Given the description of an element on the screen output the (x, y) to click on. 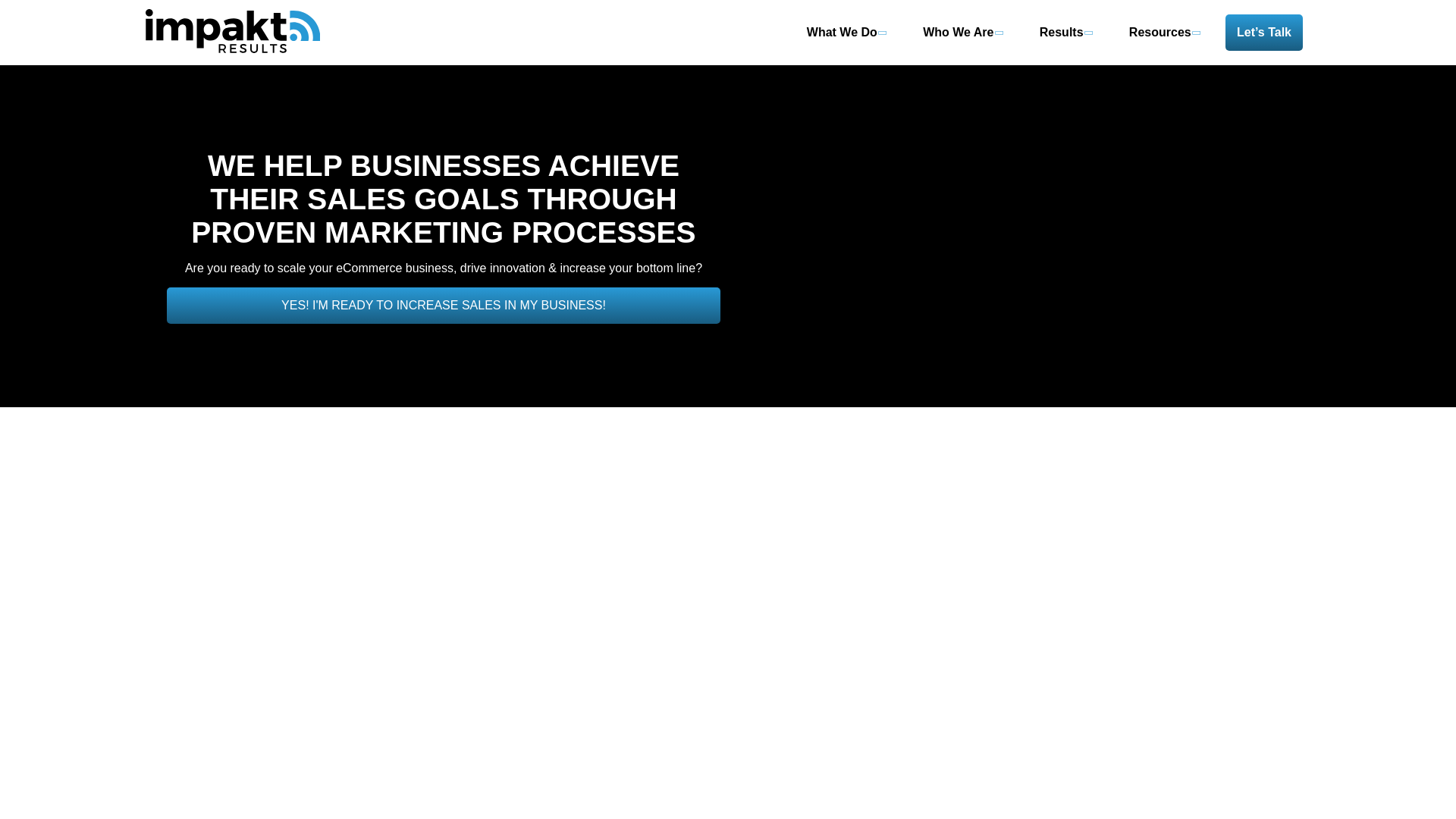
Resources (1163, 43)
Results (1064, 43)
What We Do (845, 43)
Who We Are (962, 43)
